Given the description of an element on the screen output the (x, y) to click on. 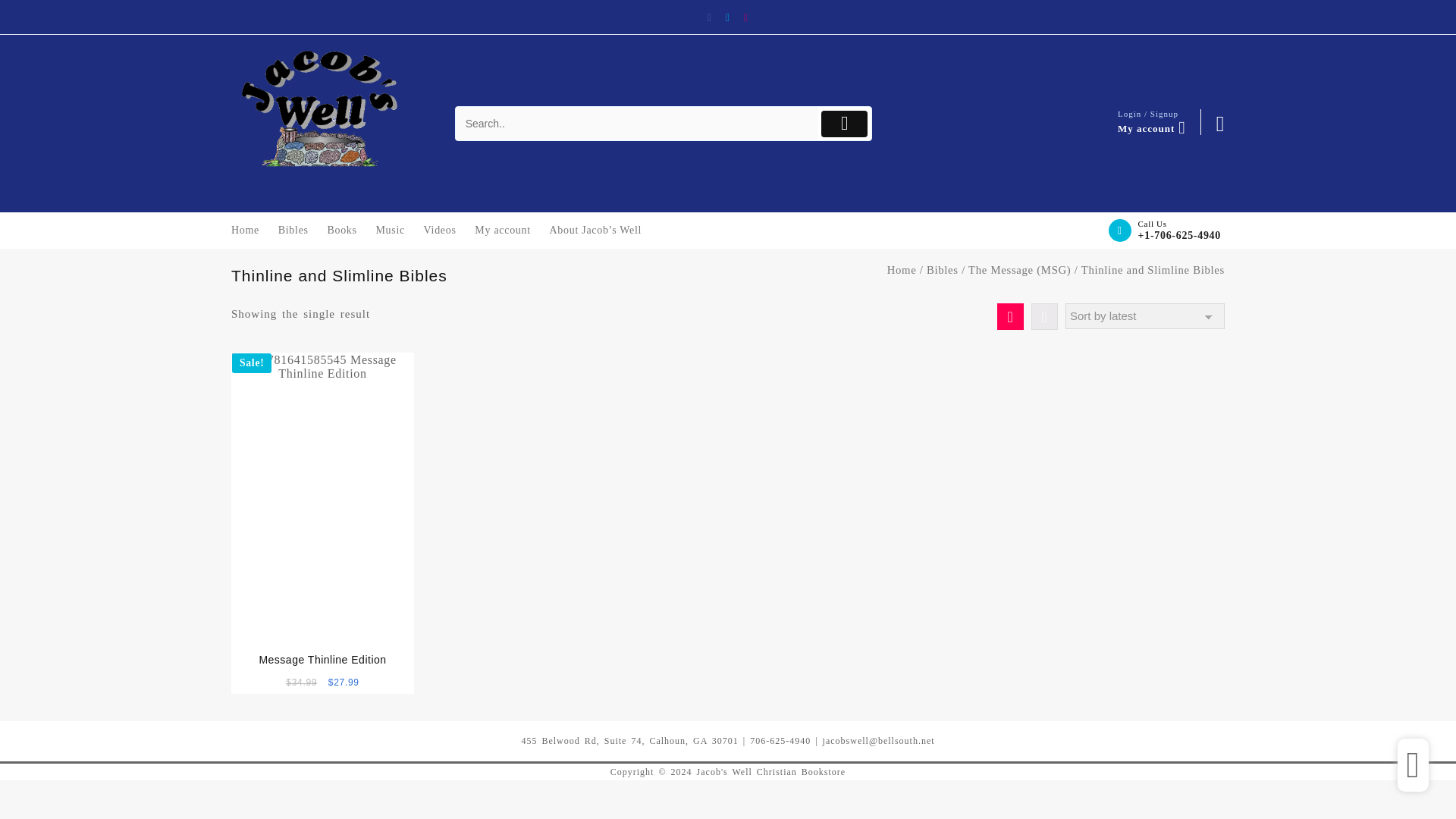
Search (636, 123)
List View (1044, 316)
Submit (844, 123)
Grid View (1010, 316)
